Given the description of an element on the screen output the (x, y) to click on. 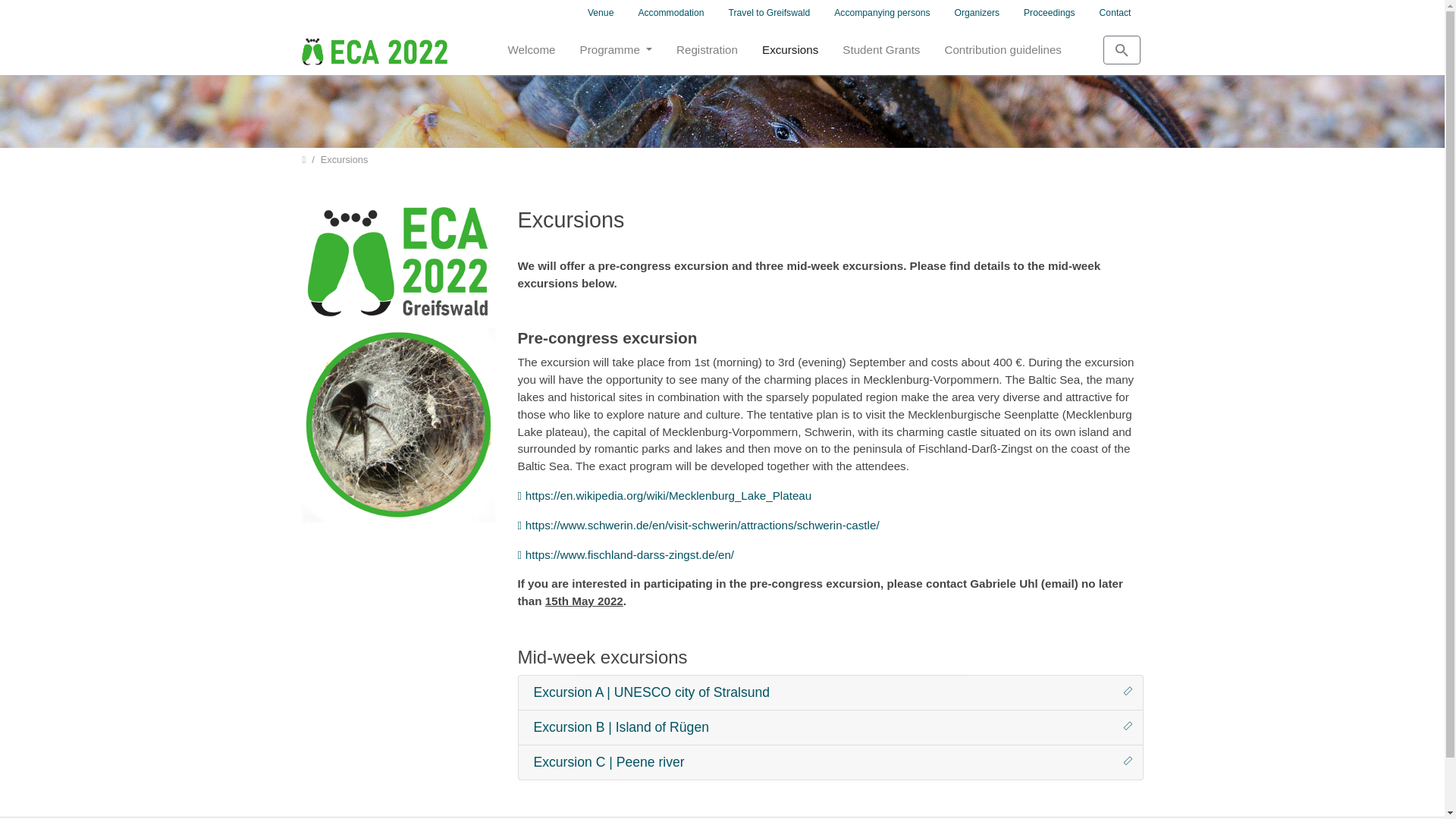
Contribution guidelines (1002, 50)
Accommodation (671, 12)
Accompanying persons (882, 12)
Travel to Greifswald (769, 12)
Excursions (789, 50)
Contact (1114, 12)
ECA Meeting (373, 50)
Organizers (976, 12)
Proceedings (1049, 12)
Student Grants (880, 50)
Programme (615, 50)
Welcome (531, 50)
Registration (706, 50)
Venue (600, 12)
